Given the description of an element on the screen output the (x, y) to click on. 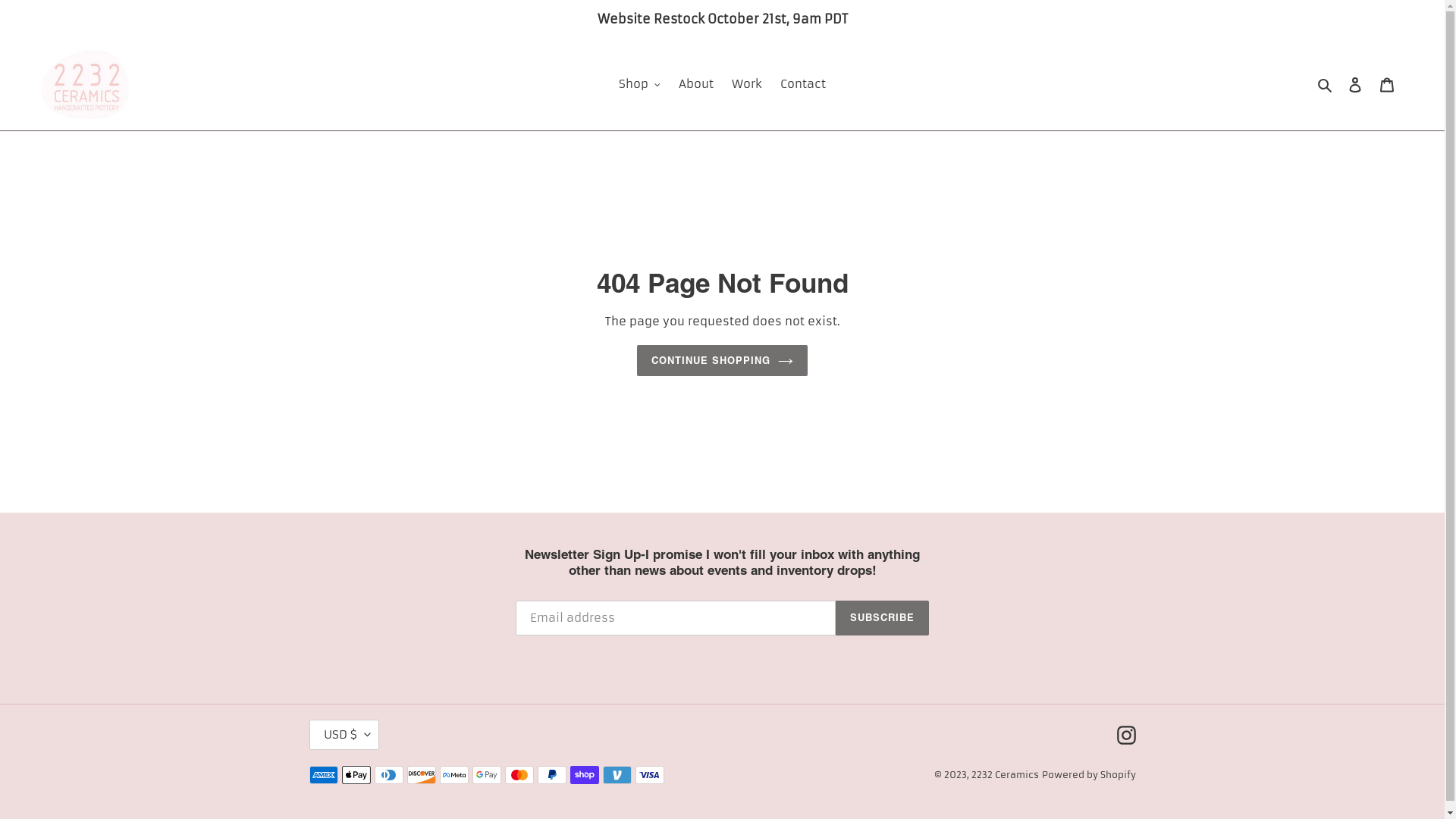
2232 Ceramics Element type: text (1004, 774)
Work Element type: text (746, 84)
Shop Element type: text (639, 84)
Powered by Shopify Element type: text (1088, 774)
Log in Element type: text (1355, 84)
About Element type: text (696, 84)
Search Element type: text (1325, 84)
SUBSCRIBE Element type: text (881, 617)
USD $ Element type: text (344, 734)
CONTINUE SHOPPING Element type: text (722, 360)
Instagram Element type: text (1125, 734)
Contact Element type: text (802, 84)
Cart Element type: text (1386, 84)
